Given the description of an element on the screen output the (x, y) to click on. 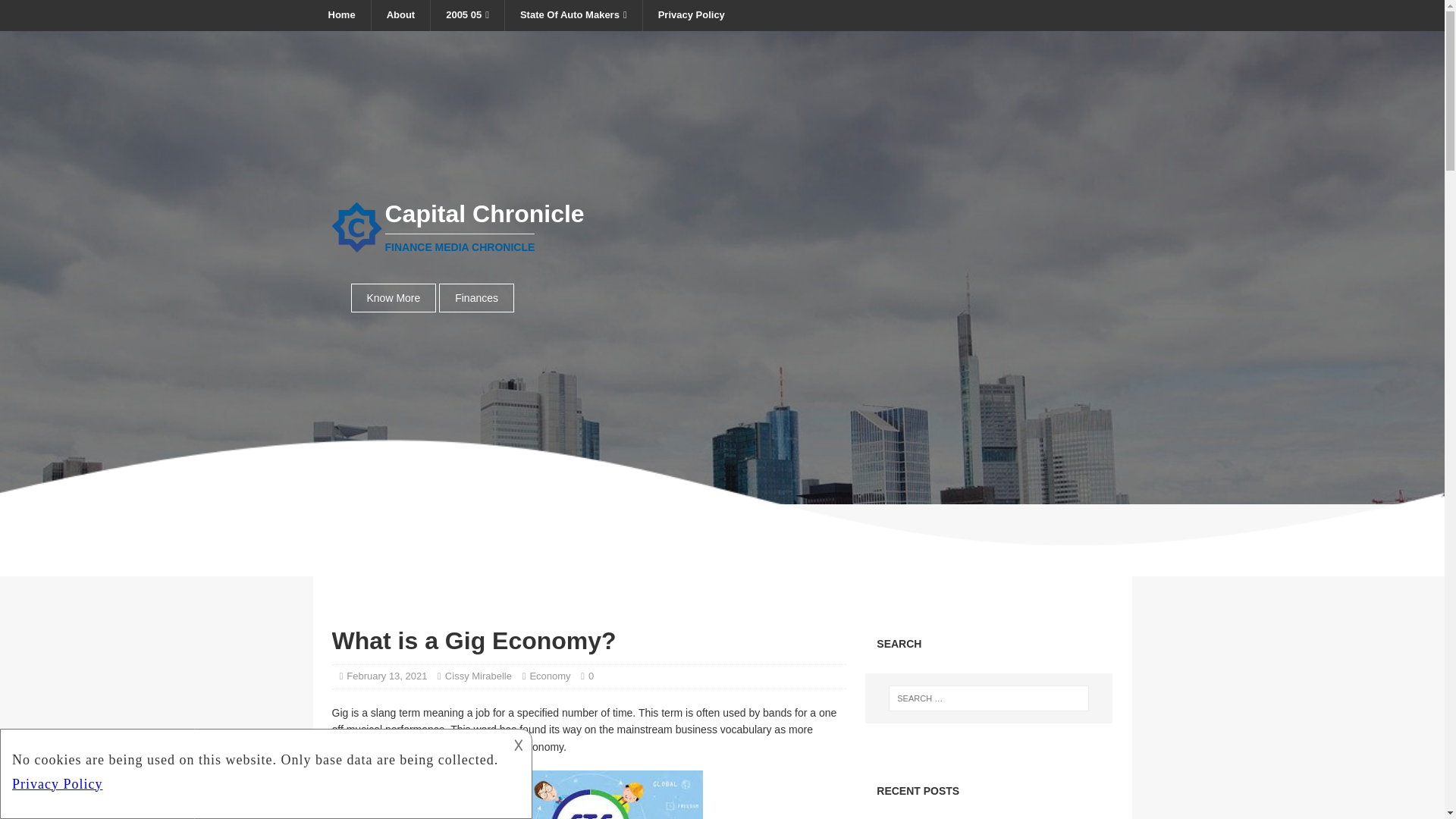
2005 05 (466, 15)
About (400, 15)
Know More (392, 297)
Cissy Mirabelle (478, 675)
February 13, 2021 (386, 675)
Capital Chronicle (721, 227)
Home (341, 15)
Privacy Policy (690, 15)
description (264, 771)
Economy (549, 675)
State Of Auto Makers (572, 15)
Finances (721, 227)
